Given the description of an element on the screen output the (x, y) to click on. 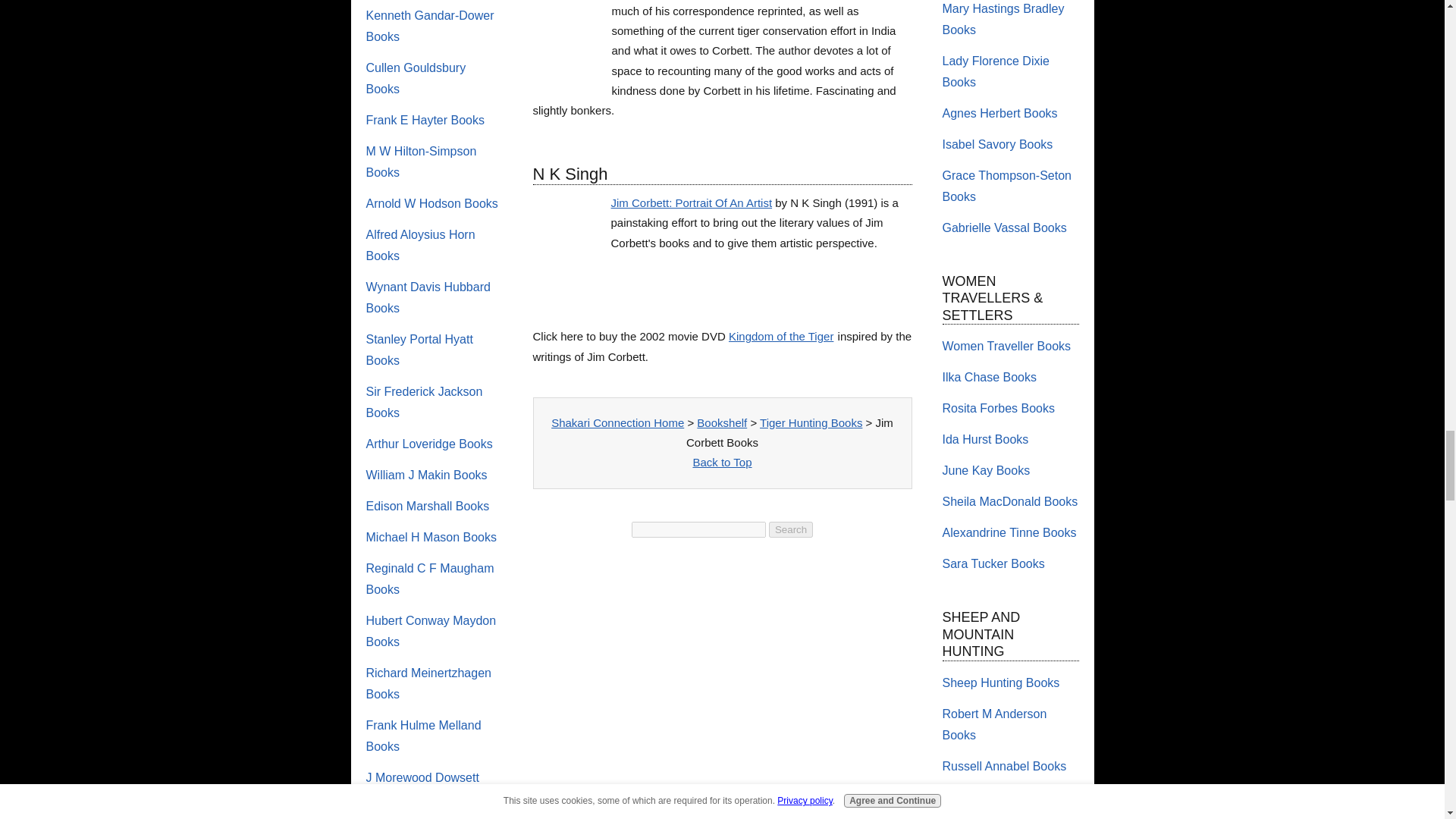
Search (790, 529)
